Given the description of an element on the screen output the (x, y) to click on. 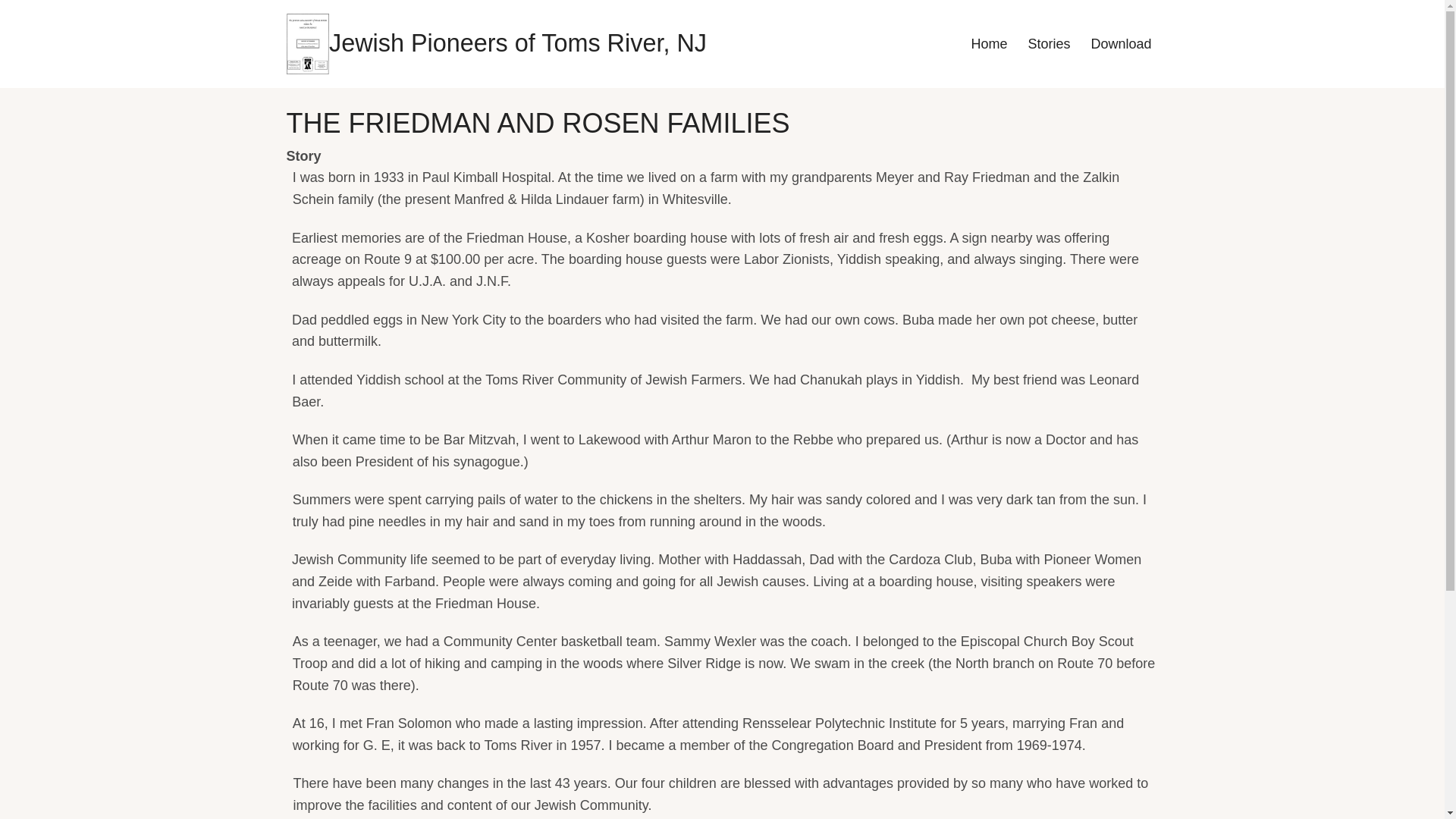
Home (517, 42)
Home (307, 43)
Jewish Pioneers of Toms River, NJ (517, 42)
Home (988, 44)
Stories (1048, 44)
Download (1120, 44)
